Given the description of an element on the screen output the (x, y) to click on. 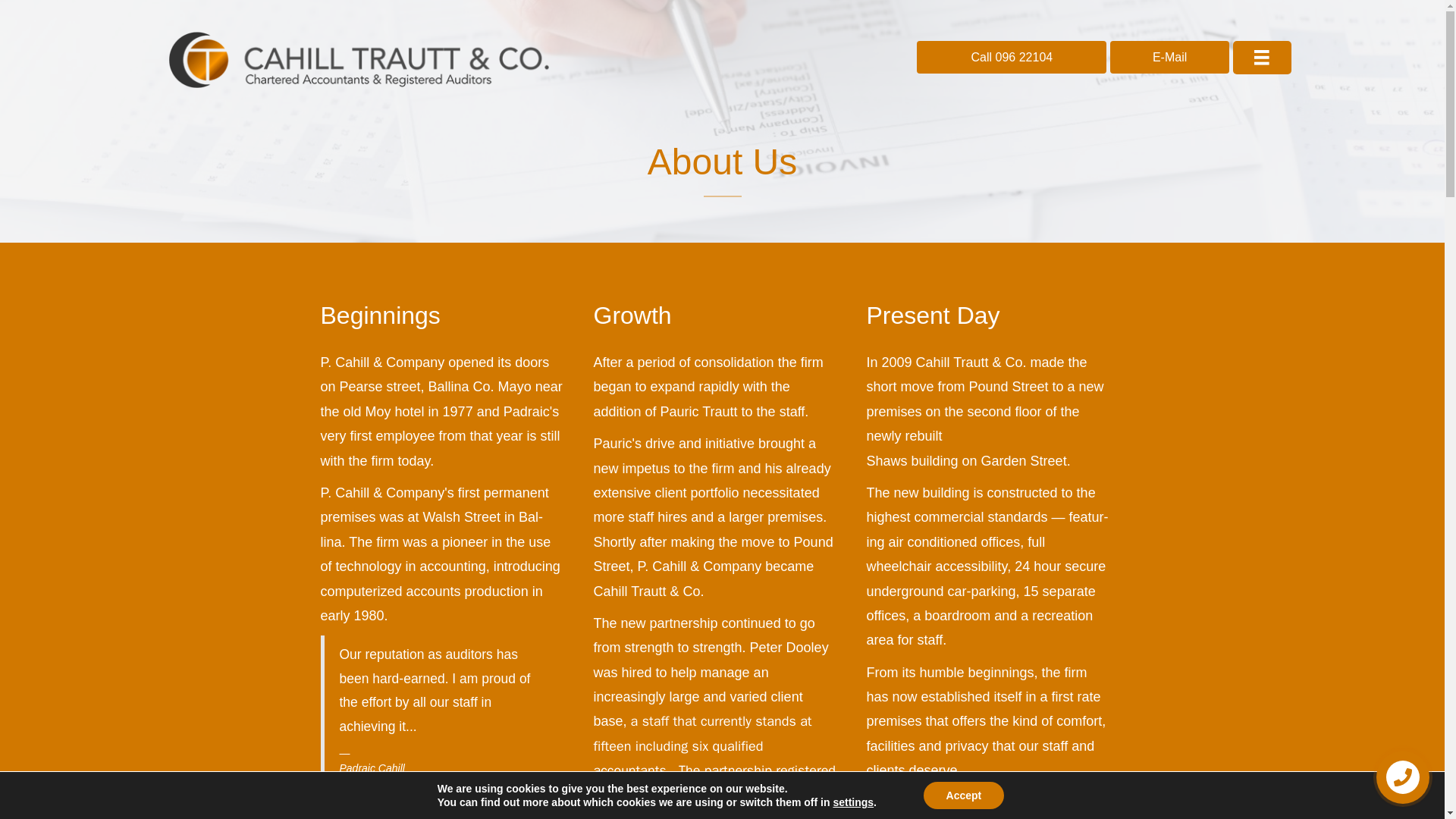
Accept (963, 795)
E-Mail (1168, 56)
cahil-trautt-logo1 (358, 59)
Call 096 22104 (1011, 56)
